Given the description of an element on the screen output the (x, y) to click on. 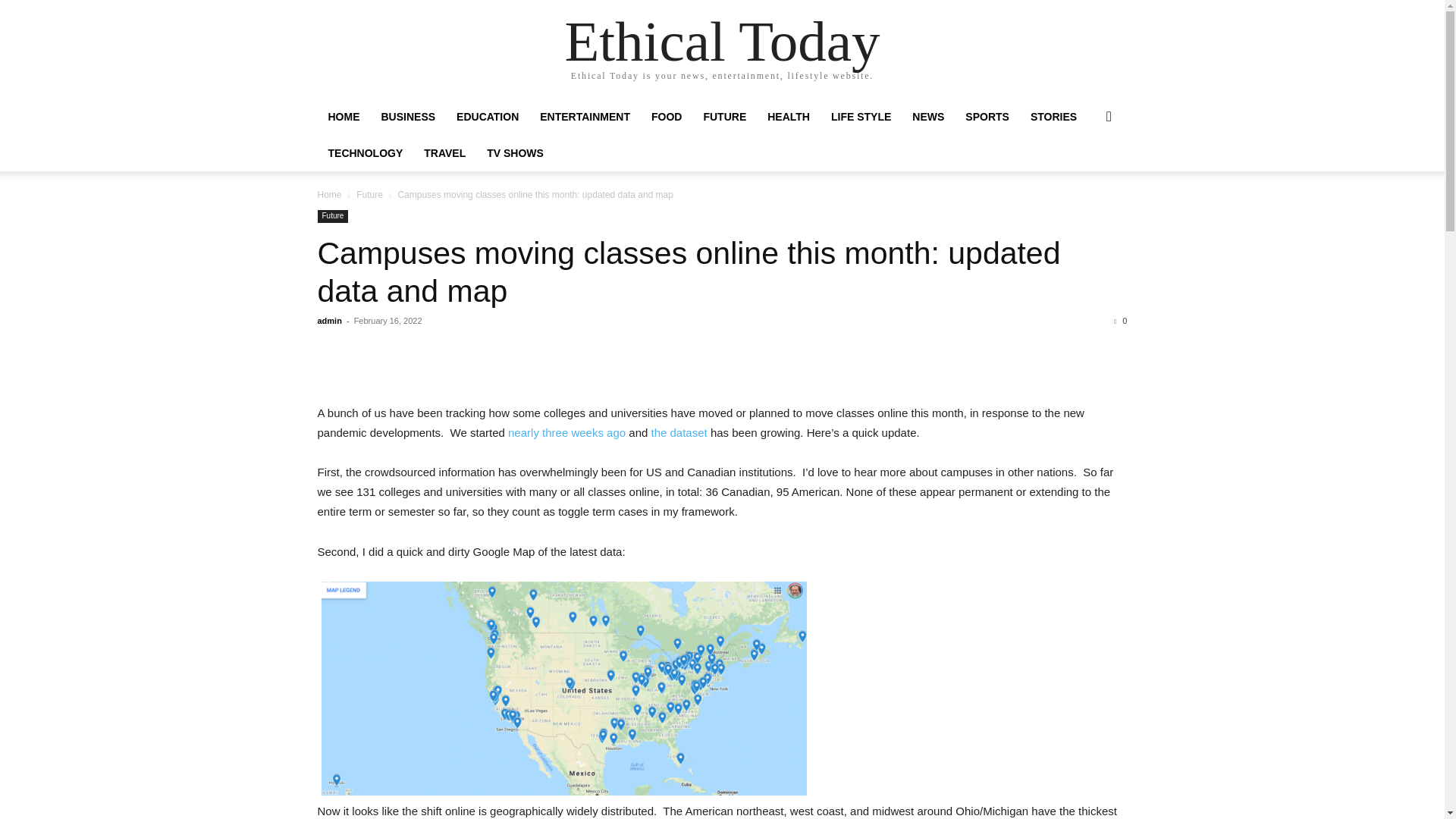
TECHNOLOGY (365, 152)
SPORTS (987, 116)
FOOD (666, 116)
TRAVEL (444, 152)
EDUCATION (487, 116)
ENTERTAINMENT (584, 116)
HOME (343, 116)
STORIES (1053, 116)
View all posts in Future (369, 194)
